Given the description of an element on the screen output the (x, y) to click on. 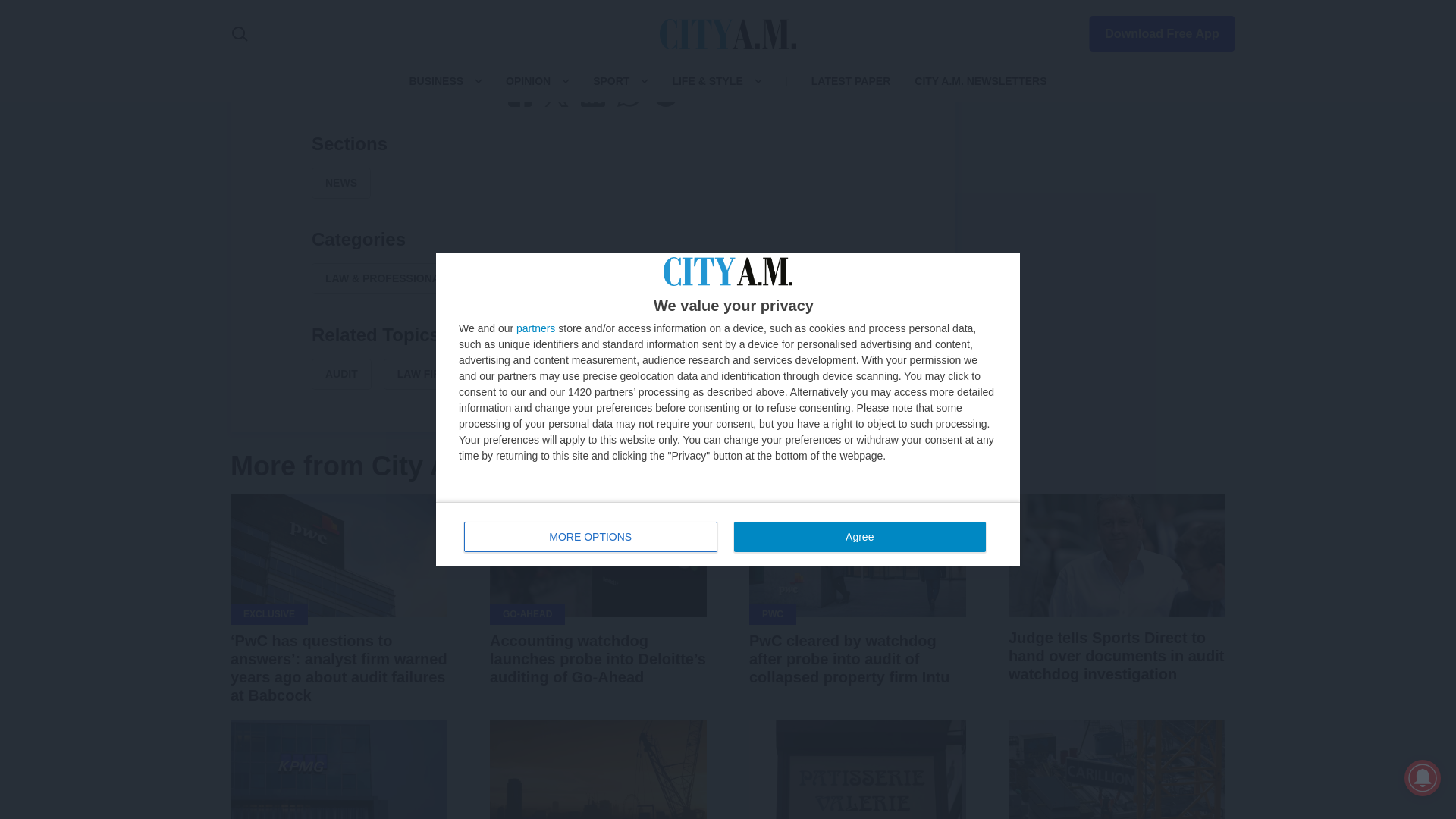
X (556, 94)
LinkedIn (592, 94)
Email (665, 94)
WhatsApp (629, 94)
Facebook (520, 94)
